Given the description of an element on the screen output the (x, y) to click on. 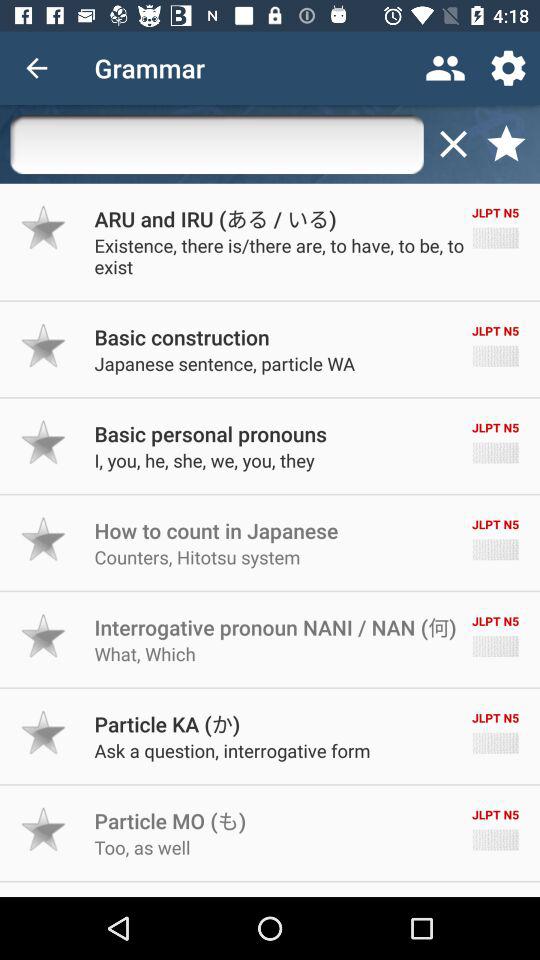
delete text (453, 144)
